Given the description of an element on the screen output the (x, y) to click on. 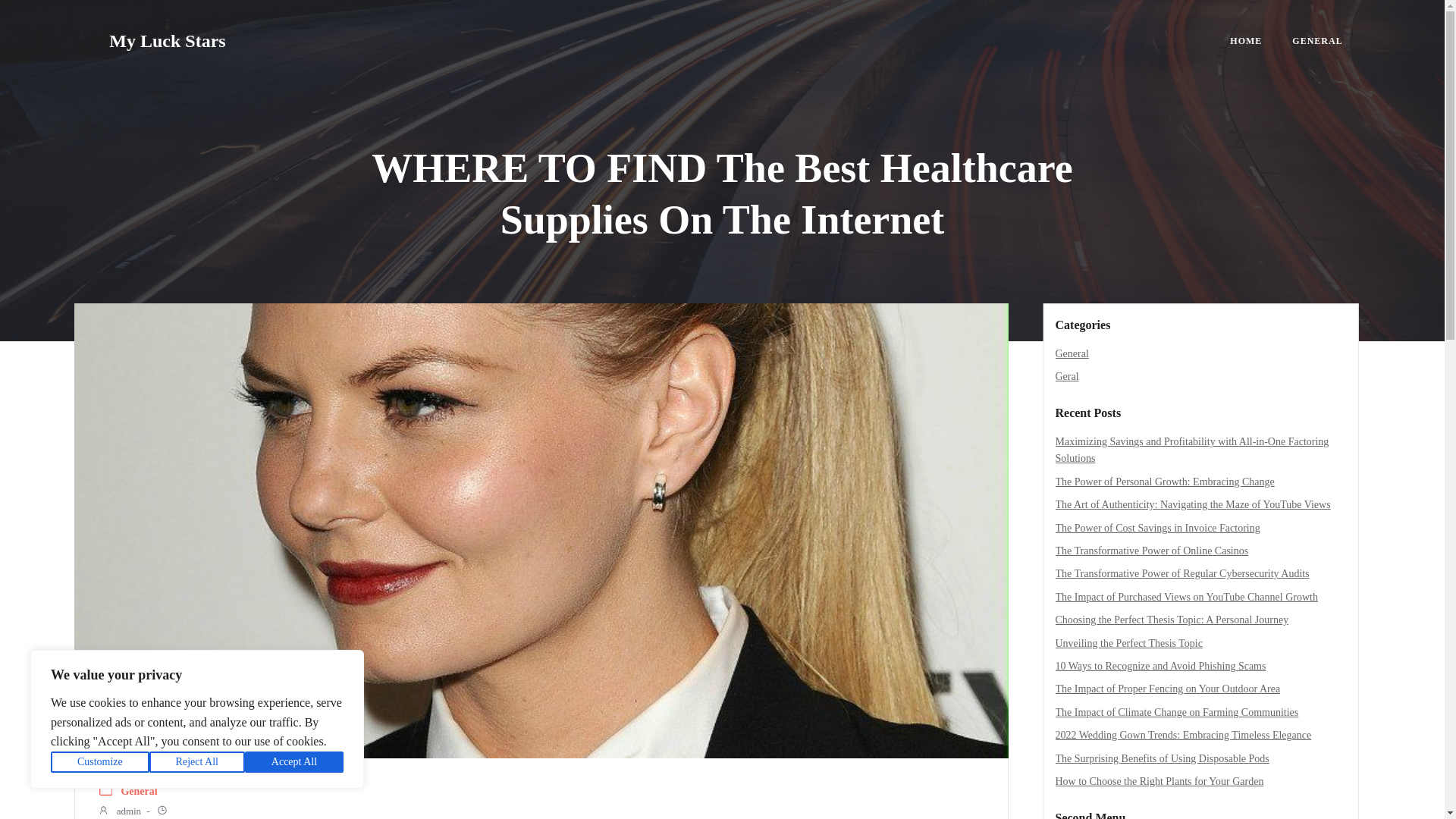
My Luck Stars (167, 40)
Reject All (196, 762)
The Power of Cost Savings in Invoice Factoring (1157, 527)
Geral (1066, 376)
GENERAL (1317, 40)
General (1072, 353)
Accept All (293, 762)
HOME (1246, 40)
admin (119, 811)
Customize (99, 762)
